Given the description of an element on the screen output the (x, y) to click on. 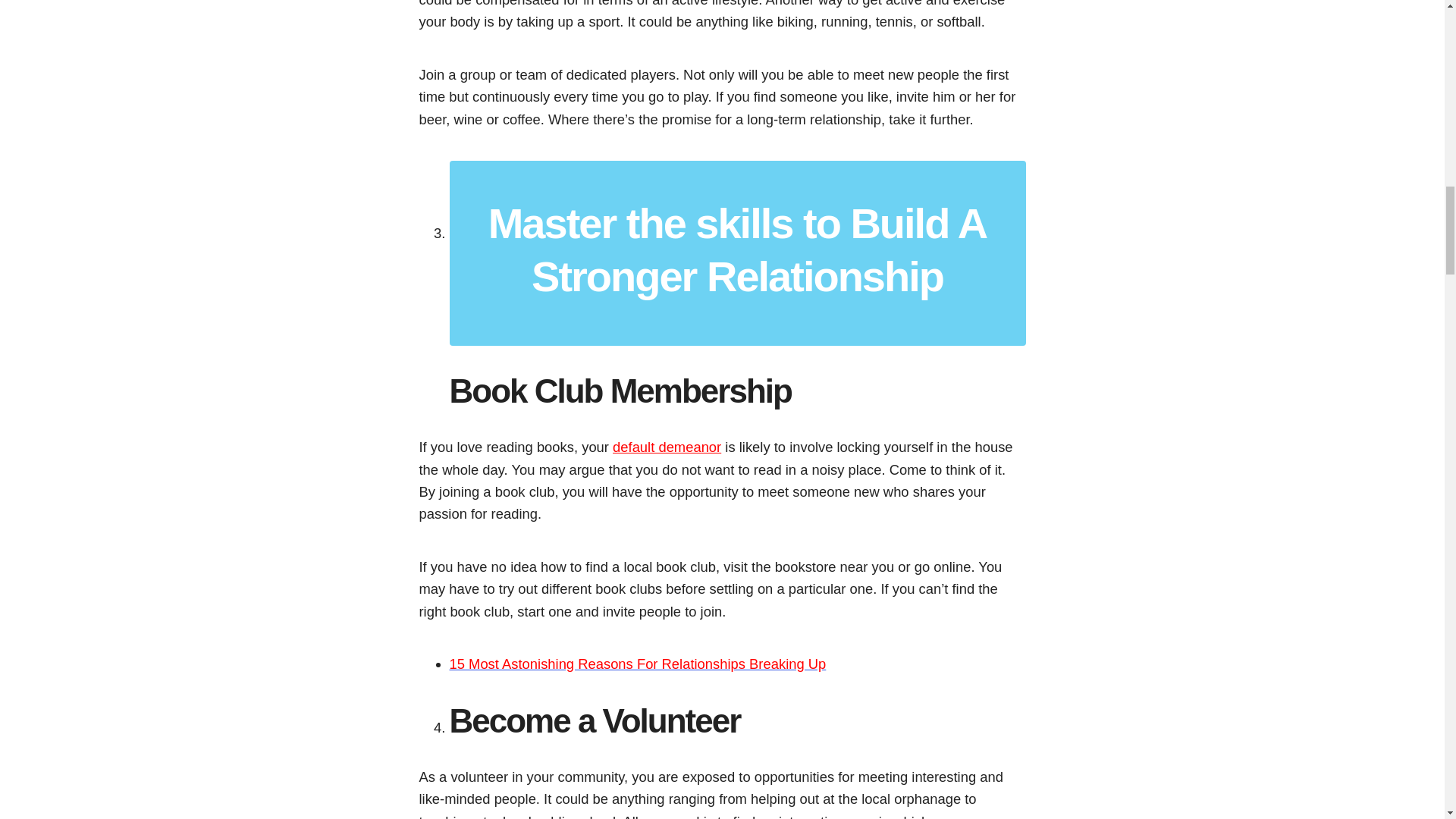
default demeanor (666, 446)
15 Most Astonishing Reasons For Relationships Breaking Up (636, 663)
